Given the description of an element on the screen output the (x, y) to click on. 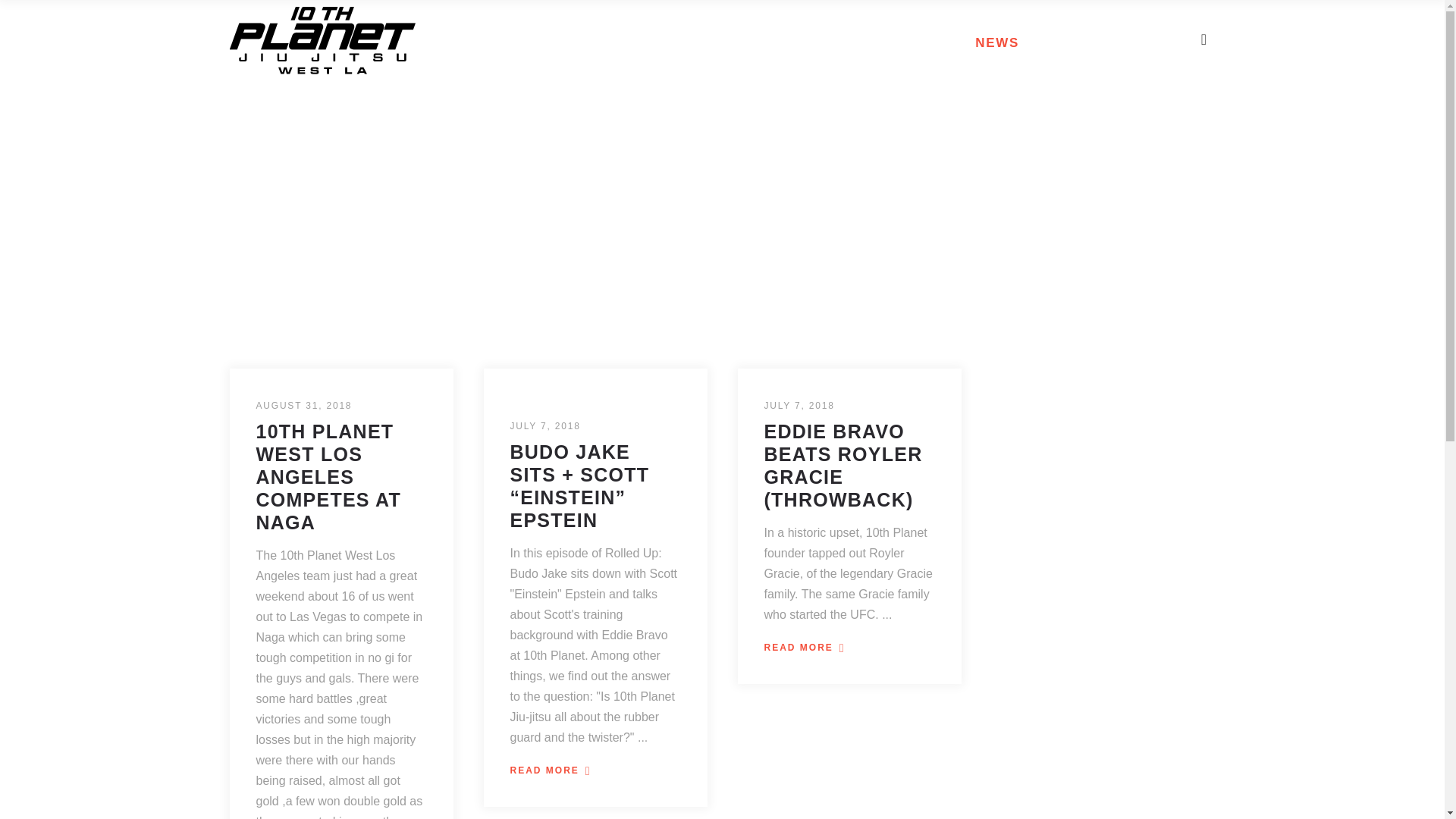
MUAY THAI Element type: text (613, 40)
AUGUST 31, 2018 Element type: text (304, 405)
10TH PLANET WEST LOS ANGELES COMPETES AT NAGA Element type: text (328, 476)
CONTACT US Element type: text (1100, 40)
HOME Element type: text (517, 40)
KIDS JIU JITSU Element type: text (744, 40)
JULY 7, 2018 Element type: text (544, 425)
JULY 7, 2018 Element type: text (799, 405)
NEWS Element type: text (996, 40)
READ MORE Element type: text (807, 648)
THE COACHES Element type: text (887, 40)
READ MORE Element type: text (552, 771)
EDDIE BRAVO BEATS ROYLER GRACIE (THROWBACK) Element type: text (843, 465)
